Given the description of an element on the screen output the (x, y) to click on. 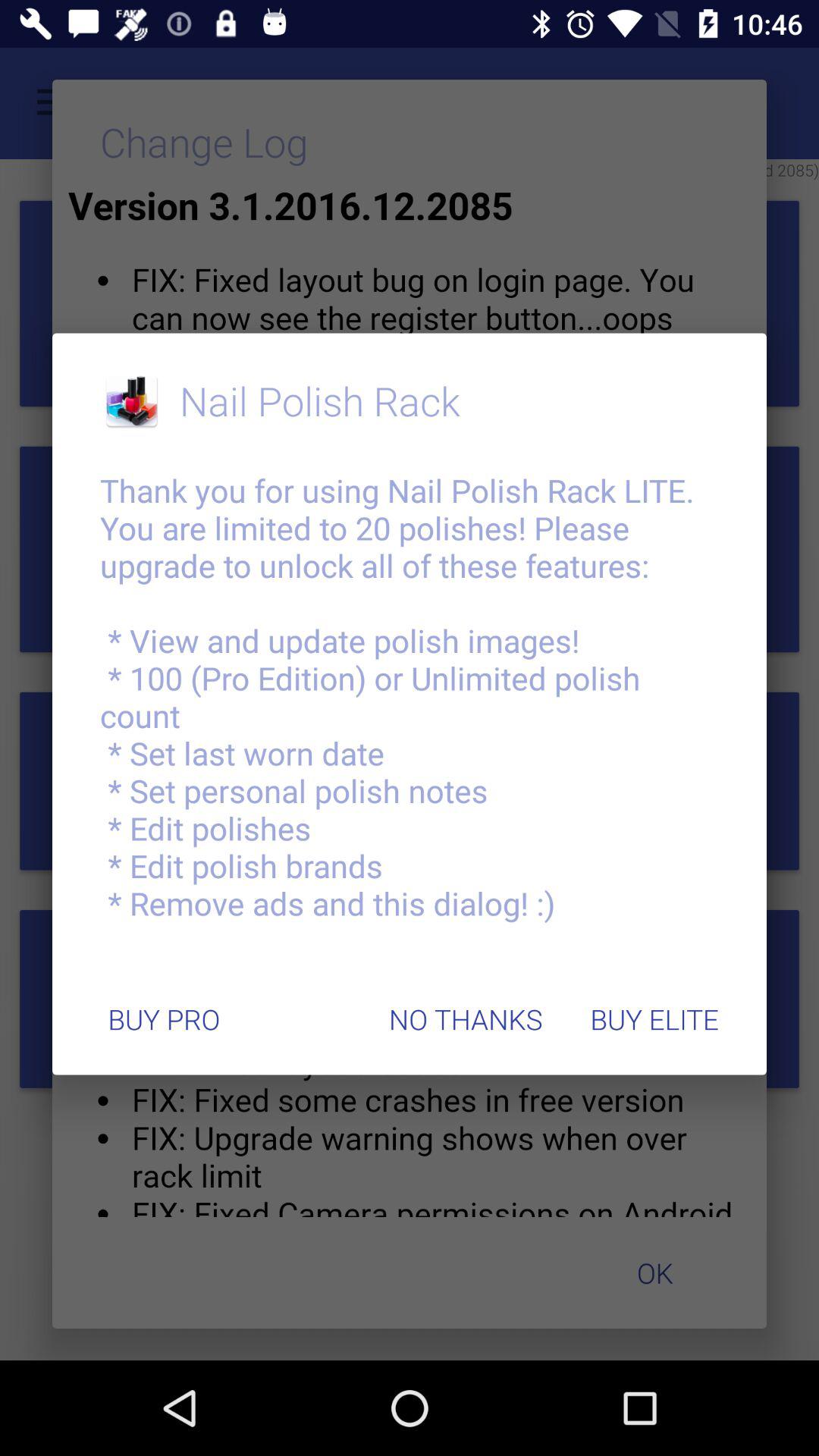
select the icon next to the no thanks item (654, 1018)
